Given the description of an element on the screen output the (x, y) to click on. 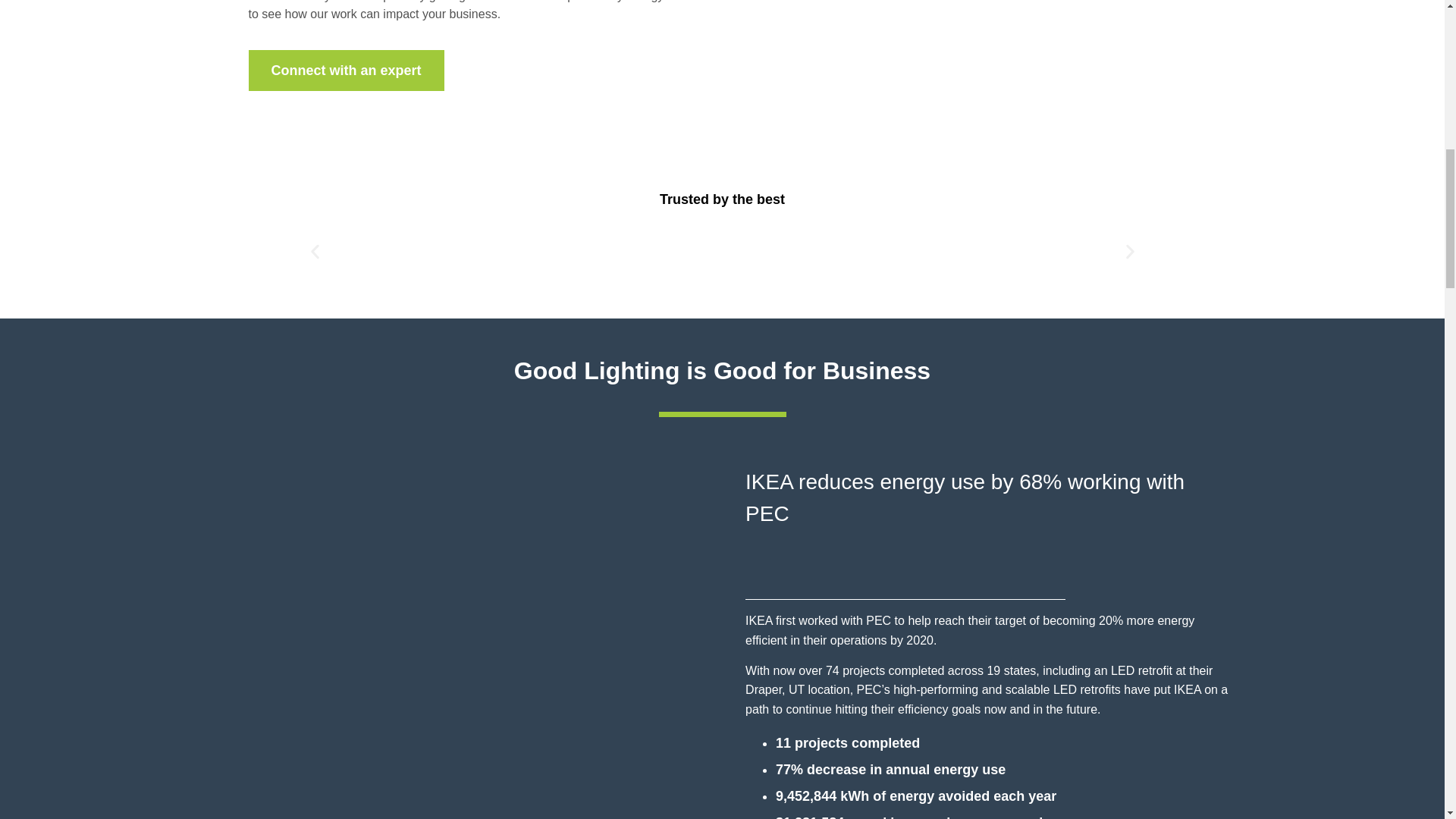
West-fraser-after-led-lighting-project (960, 76)
